Given the description of an element on the screen output the (x, y) to click on. 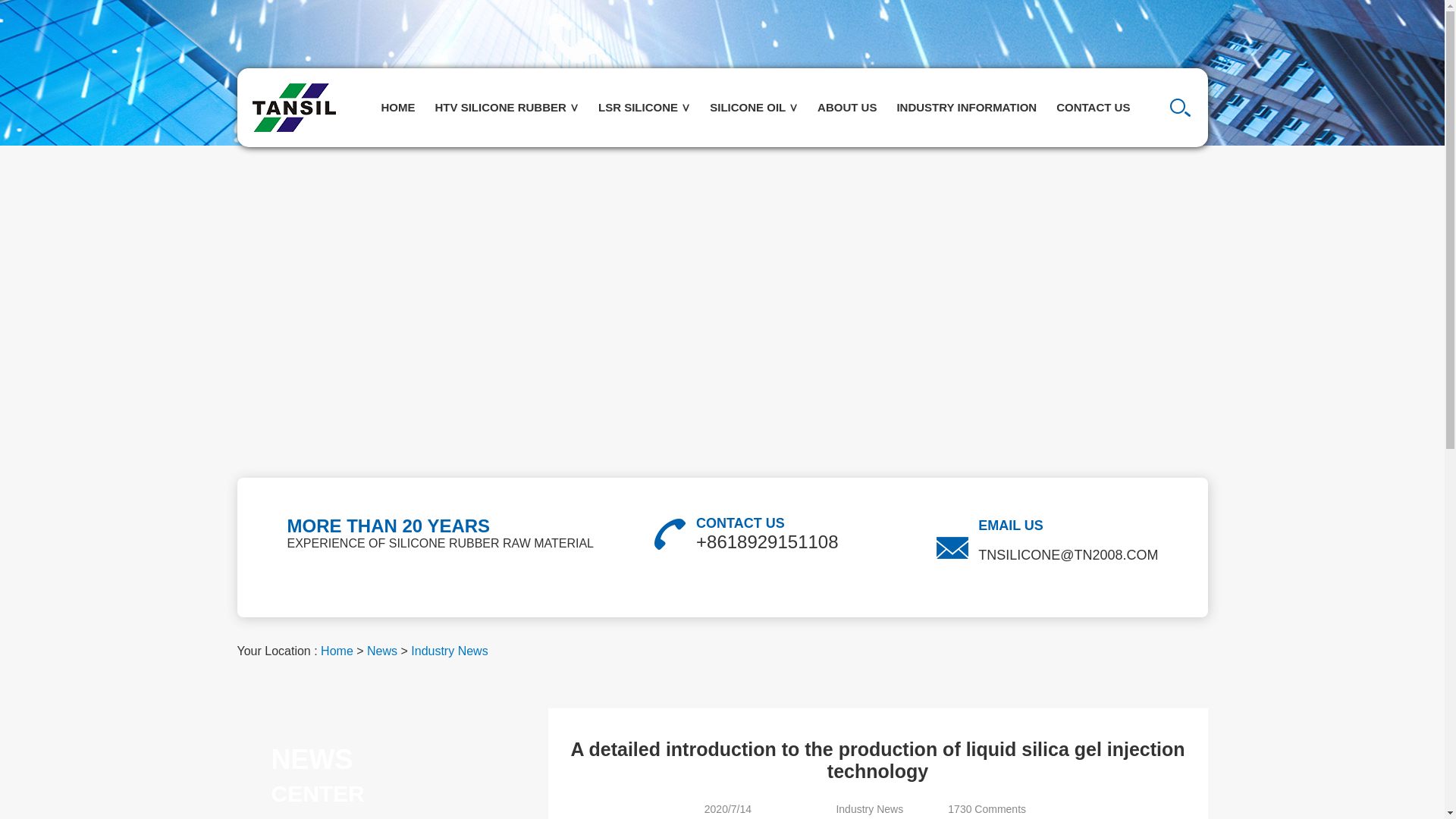
INDUSTRY INFORMATION (966, 107)
HOME (398, 107)
News (381, 650)
Home (336, 650)
ABOUT US (847, 107)
CONTACT US (1093, 107)
Industry News (448, 650)
